Given the description of an element on the screen output the (x, y) to click on. 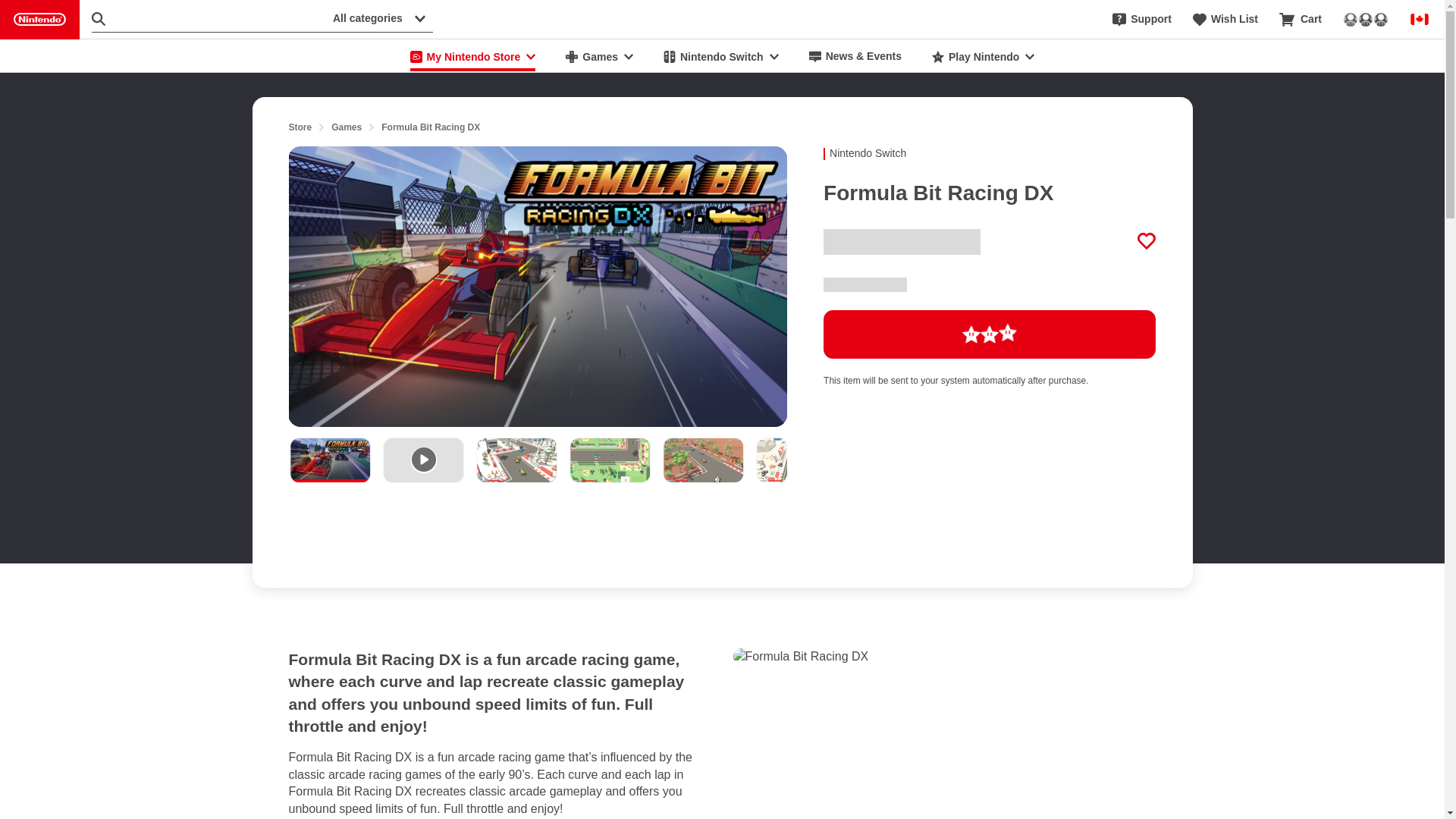
Loading (990, 334)
Nintendo Switch (720, 56)
Play Nintendo (983, 56)
Support (1142, 19)
My Nintendo Store (472, 56)
Nintendo (40, 19)
Add to Wish List (1146, 240)
Store (299, 127)
Games (346, 127)
Games (599, 56)
Cart (1300, 19)
Wish List (1224, 19)
